Given the description of an element on the screen output the (x, y) to click on. 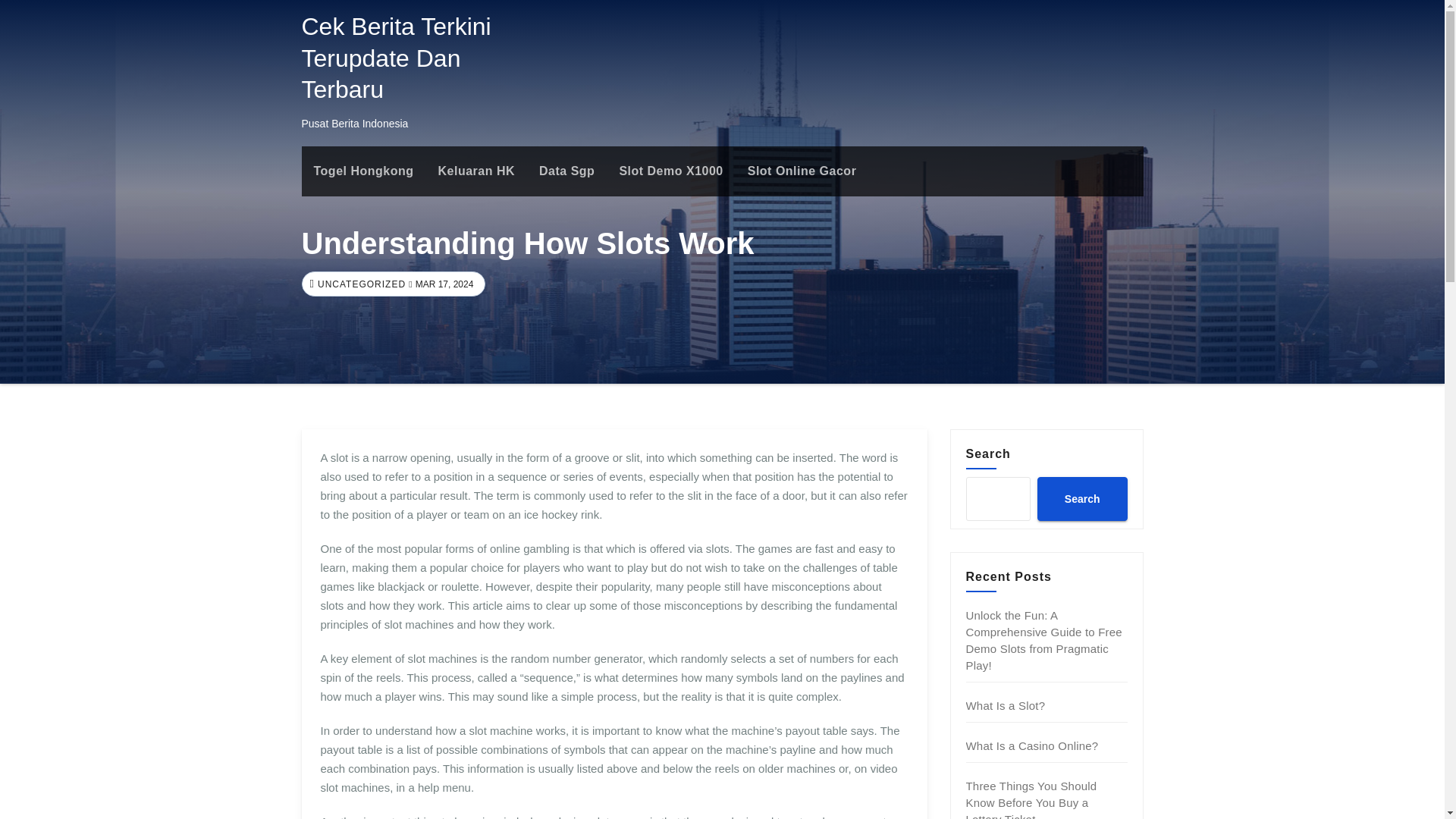
Keluaran HK (476, 171)
What Is a Casino Online? (1032, 745)
data sgp (567, 171)
Slot Online Gacor (802, 171)
Togel Hongkong (363, 171)
slot online gacor (802, 171)
Search (1081, 498)
Slot Demo X1000 (671, 171)
Three Things You Should Know Before You Buy a Lottery Ticket (1031, 799)
